Given the description of an element on the screen output the (x, y) to click on. 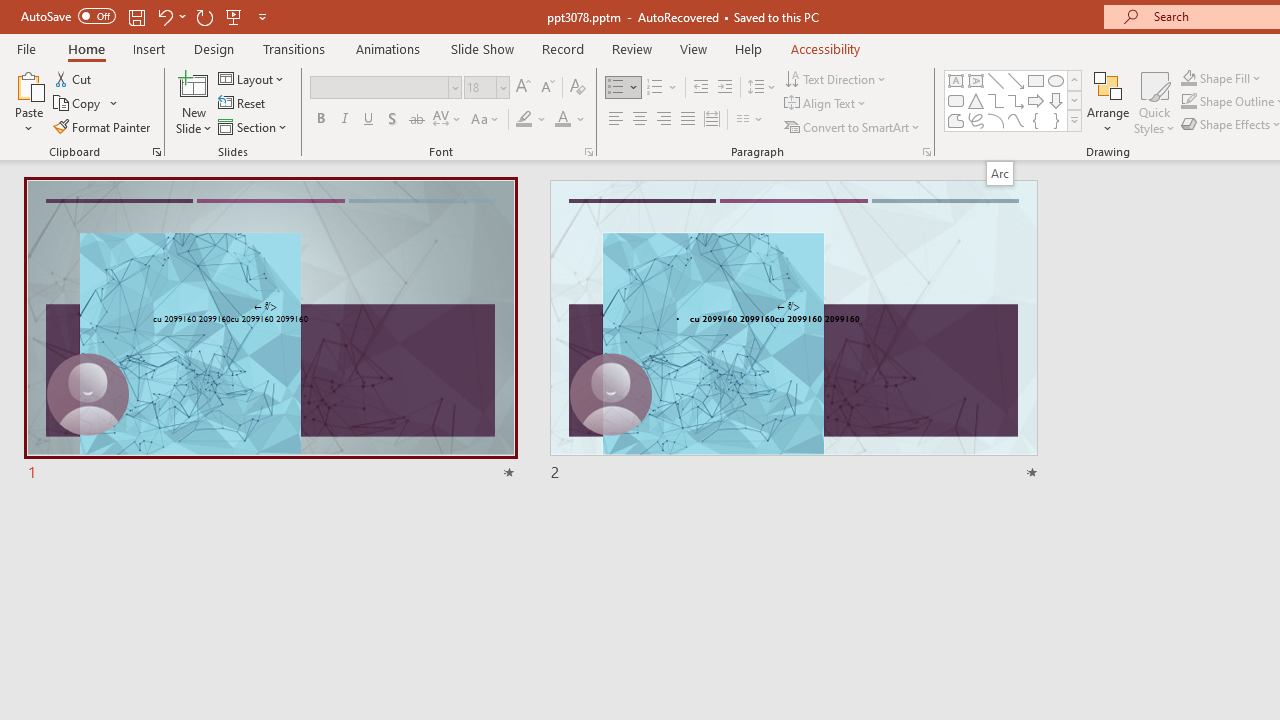
AutomationID: ShapesInsertGallery (1014, 100)
Paragraph... (926, 151)
Italic (344, 119)
Line Spacing (762, 87)
Left Brace (1035, 120)
Arrow: Down (1055, 100)
Align Right (663, 119)
Isosceles Triangle (975, 100)
